Given the description of an element on the screen output the (x, y) to click on. 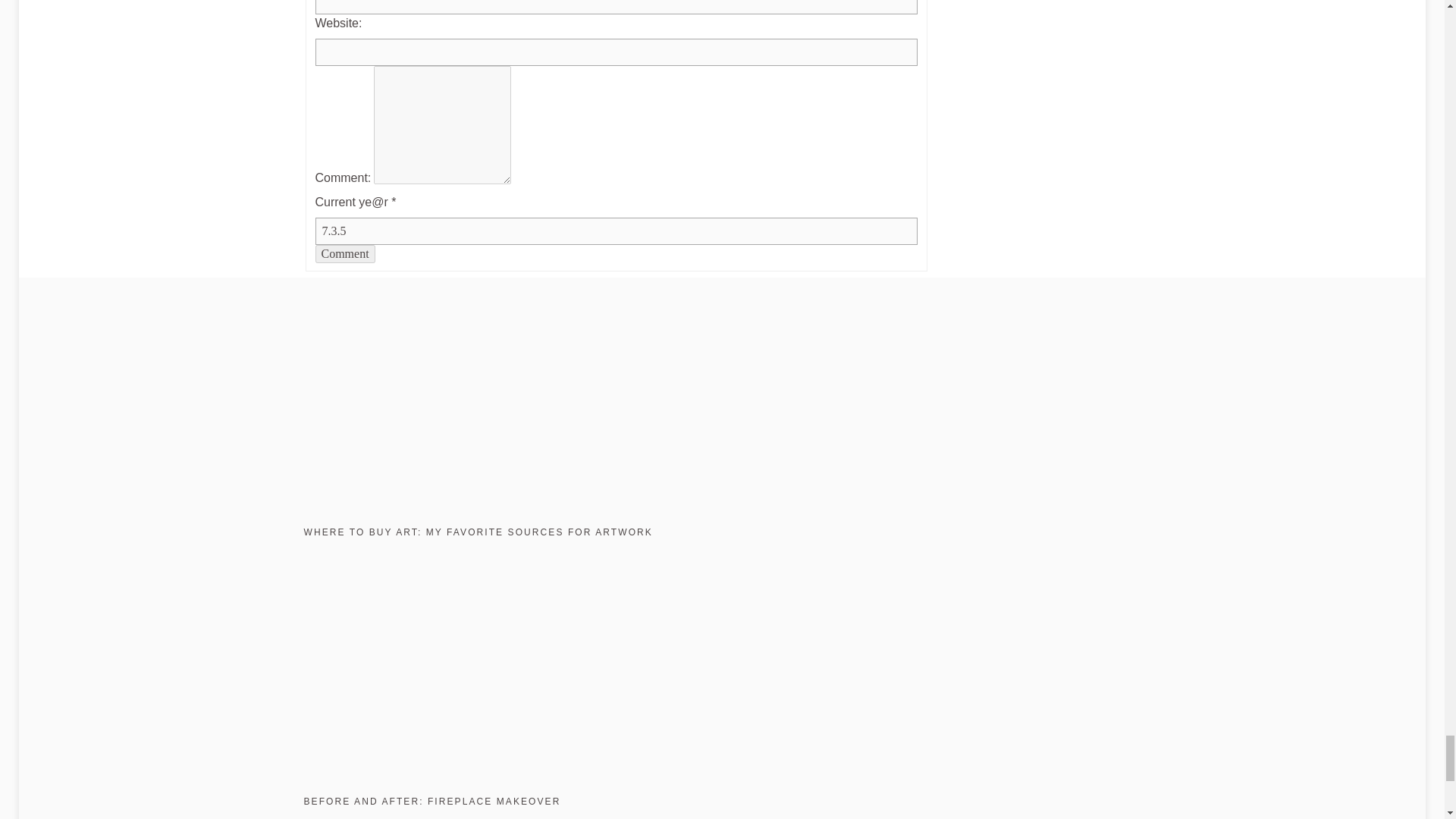
7.3.5 (616, 230)
Comment (345, 253)
